Given the description of an element on the screen output the (x, y) to click on. 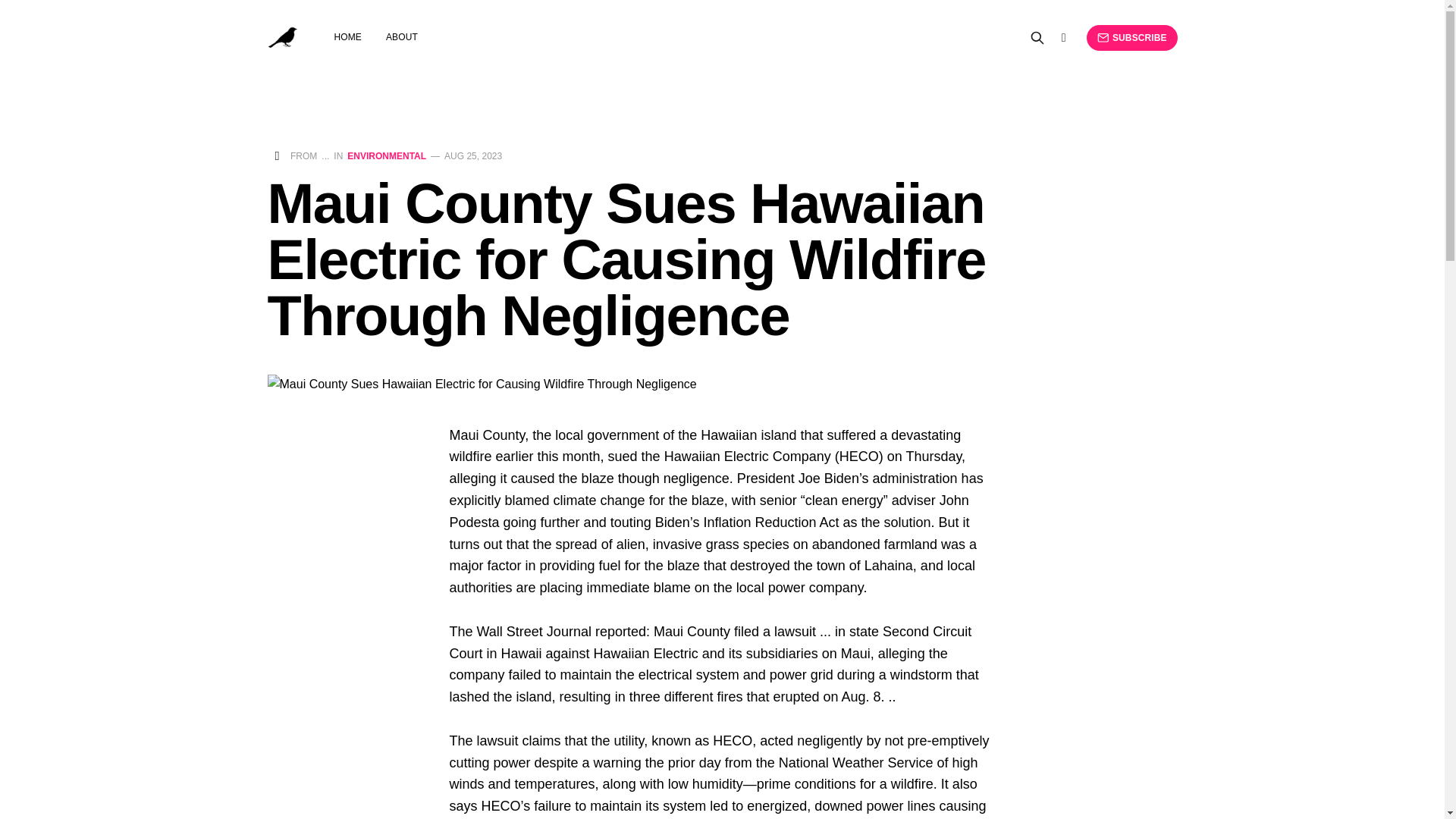
HOME (347, 36)
SUBSCRIBE (1131, 37)
ENVIRONMENTAL (386, 155)
ABOUT (401, 36)
